Given the description of an element on the screen output the (x, y) to click on. 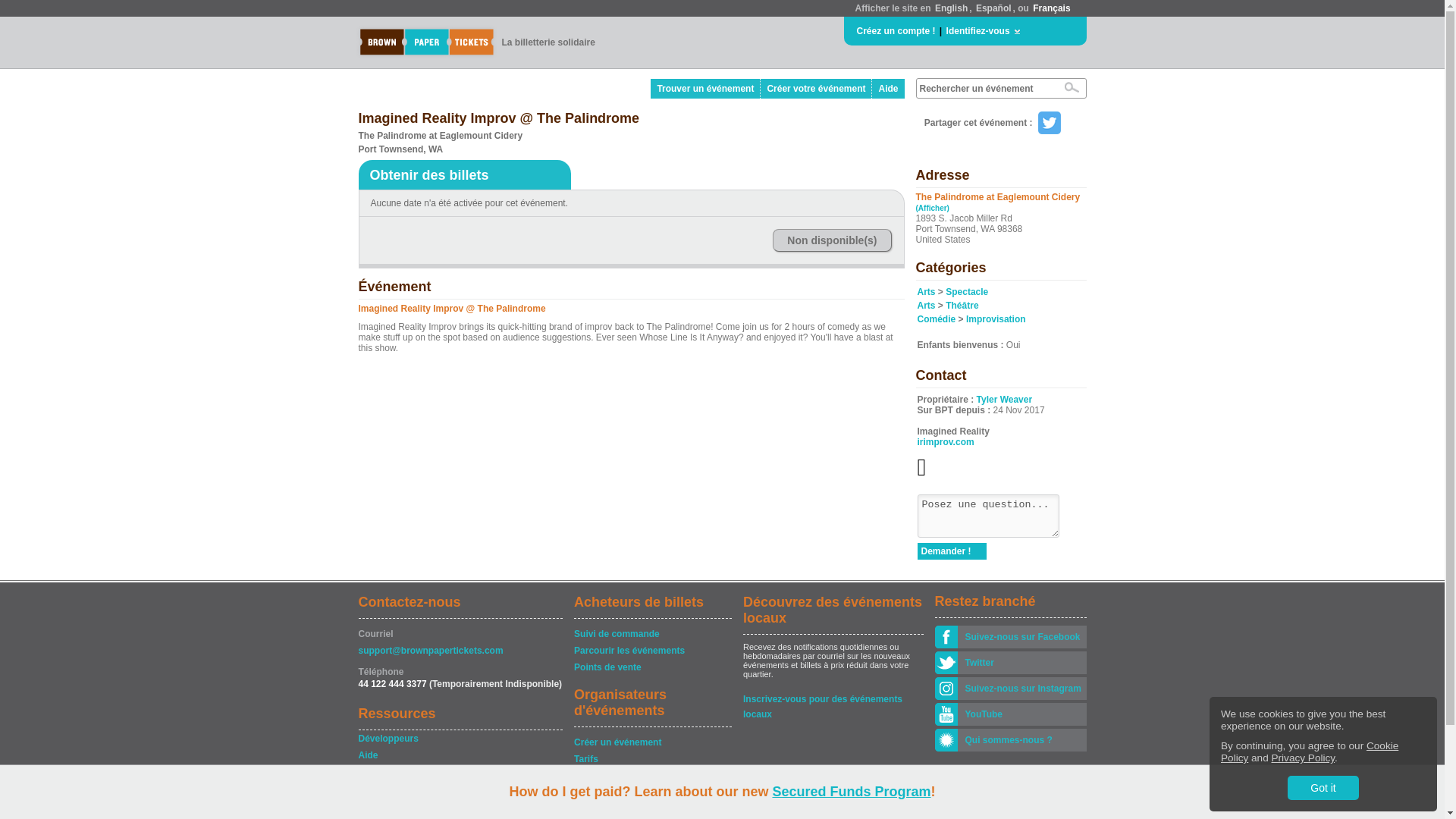
Demander ! (952, 550)
Privacy Policy (1303, 757)
Suivi de commande (651, 633)
Submit to Twitter! (1048, 122)
Spectacle (966, 291)
Points de vente (651, 667)
Cookie Policy (1309, 751)
Improvisation (996, 318)
Secured Funds Program (850, 791)
Services (651, 775)
Got it (1322, 787)
irimprov.com (945, 441)
Aide (888, 88)
Tarifs (651, 758)
Aide (460, 754)
